Given the description of an element on the screen output the (x, y) to click on. 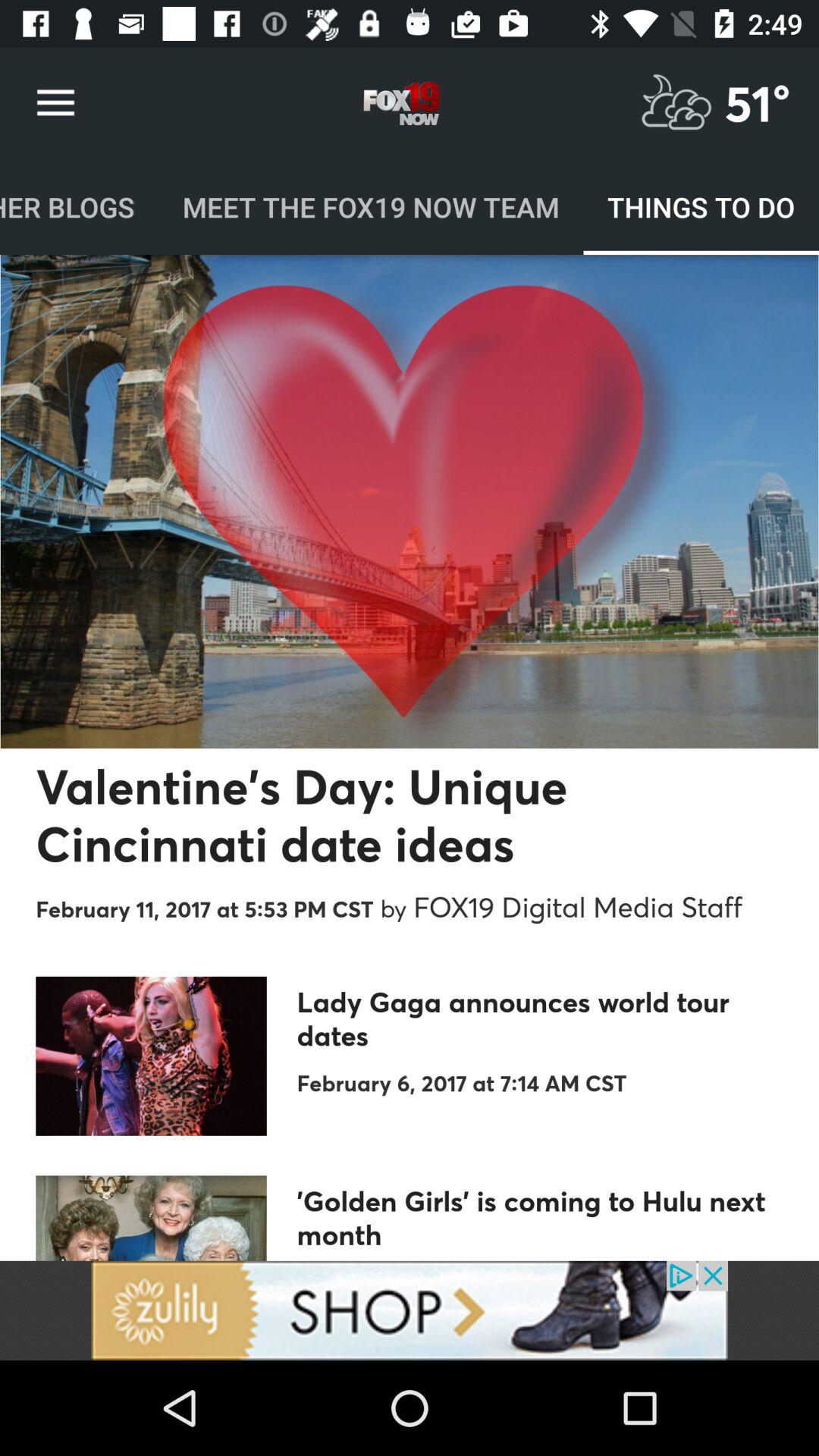
advertisement page (409, 1310)
